Given the description of an element on the screen output the (x, y) to click on. 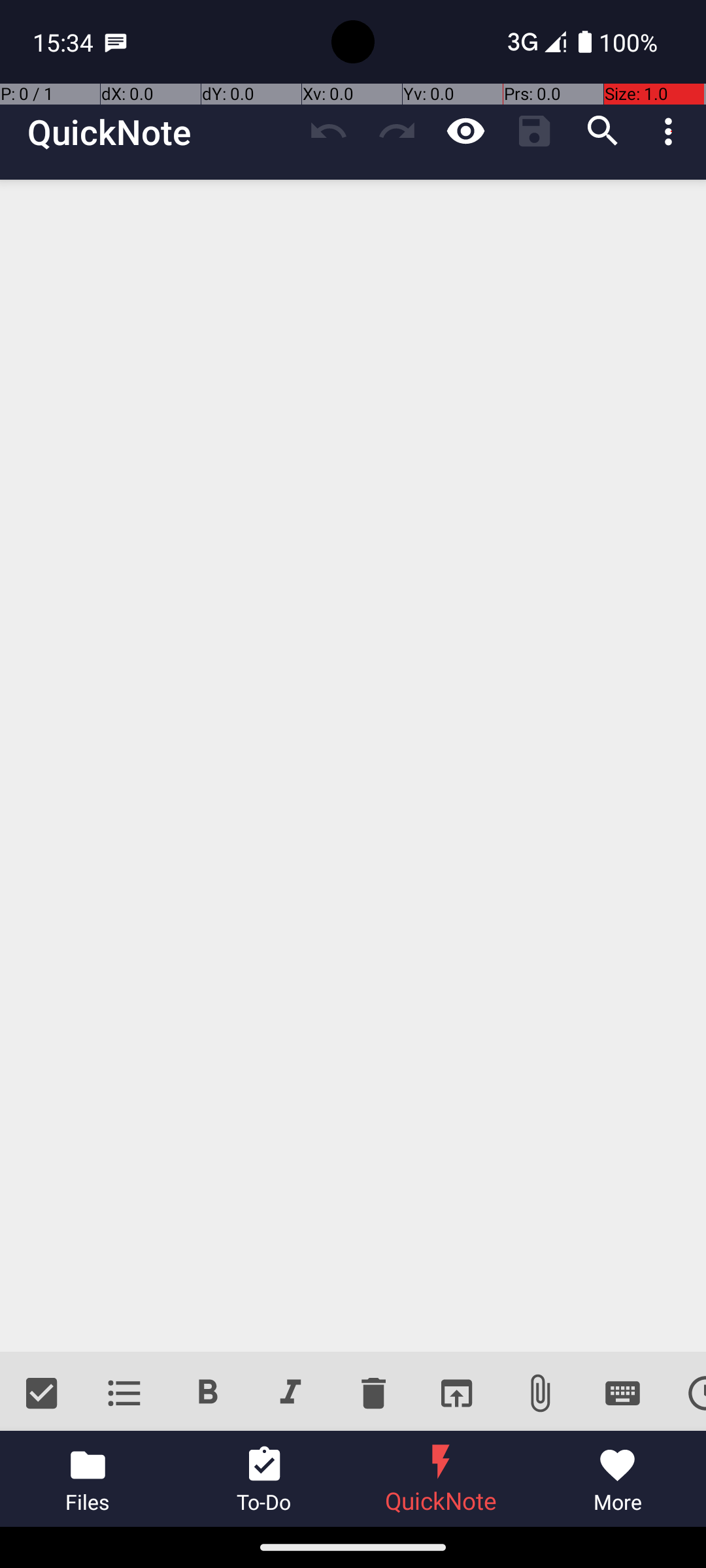
QuickNote Element type: android.widget.TextView (108, 131)
To-Do Element type: android.widget.FrameLayout (264, 1478)
